Given the description of an element on the screen output the (x, y) to click on. 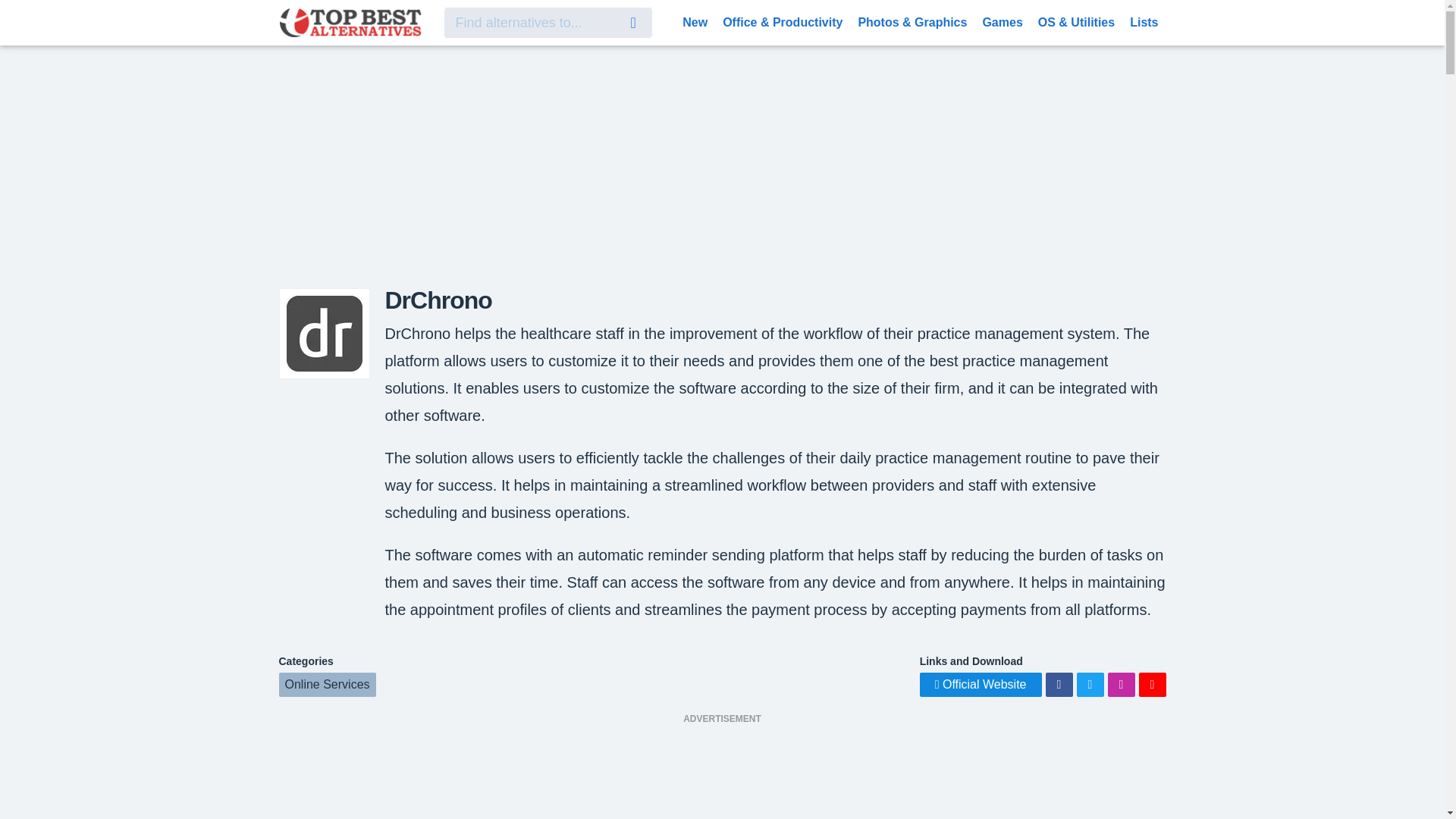
New (694, 21)
Facebook (1058, 684)
Instagram (1120, 684)
Official Website (981, 684)
Games (1001, 21)
Youtube (1152, 684)
Twitter (1090, 684)
Lists (1144, 21)
Online Services (327, 684)
